Given the description of an element on the screen output the (x, y) to click on. 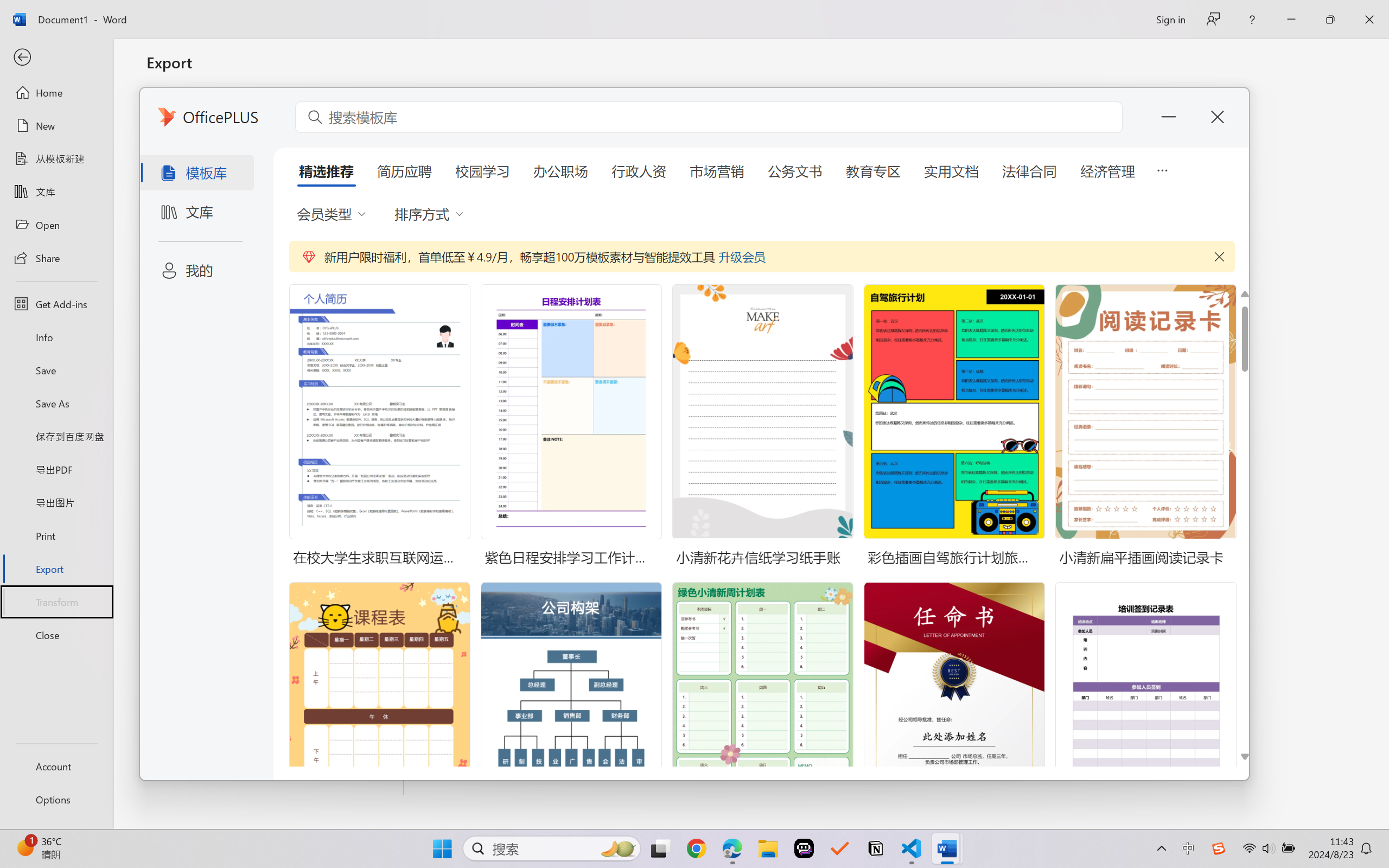
Save As (56, 403)
